Given the description of an element on the screen output the (x, y) to click on. 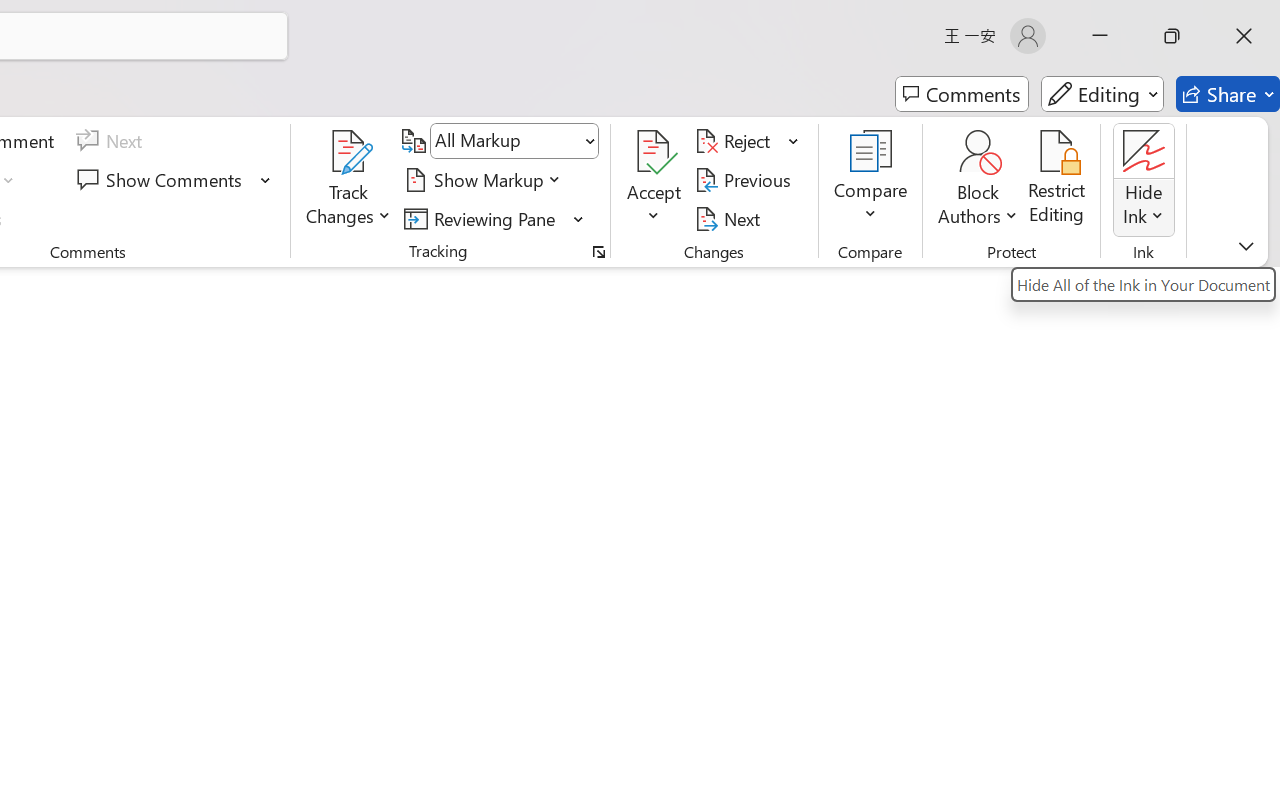
Share (1228, 94)
Reviewing Pane (483, 218)
Hide All of the Ink in Your Document (1143, 284)
Track Changes (349, 151)
Accept (653, 179)
Block Authors (977, 151)
Block Authors (977, 179)
Restrict Editing (1057, 179)
Close (1244, 36)
Ribbon Display Options (1246, 245)
Reject and Move to Next (735, 141)
More Options (1144, 208)
Track Changes (349, 179)
Reject (747, 141)
